Given the description of an element on the screen output the (x, y) to click on. 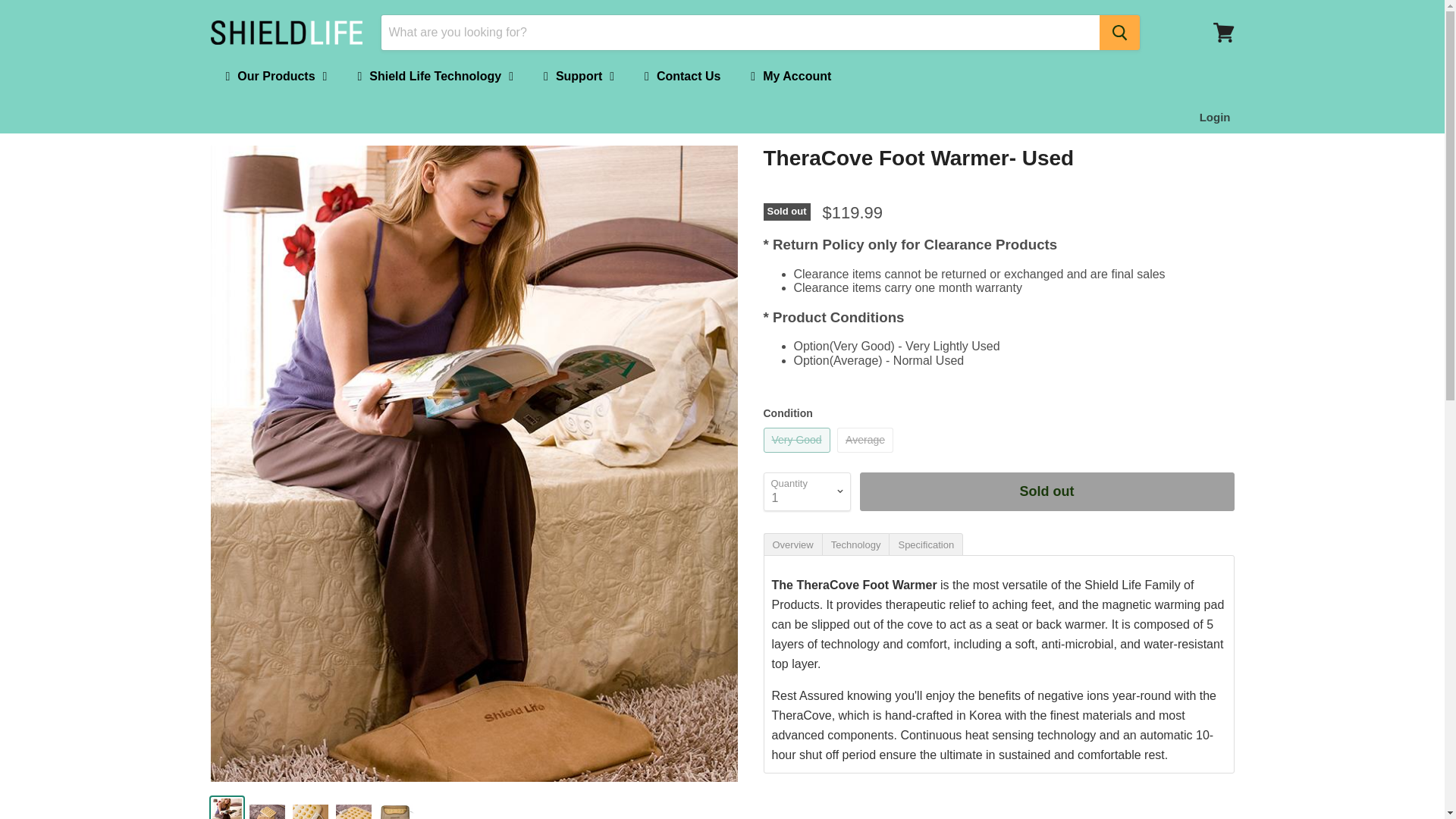
Our Products (276, 76)
View cart (1223, 32)
Our Products (276, 76)
